Given the description of an element on the screen output the (x, y) to click on. 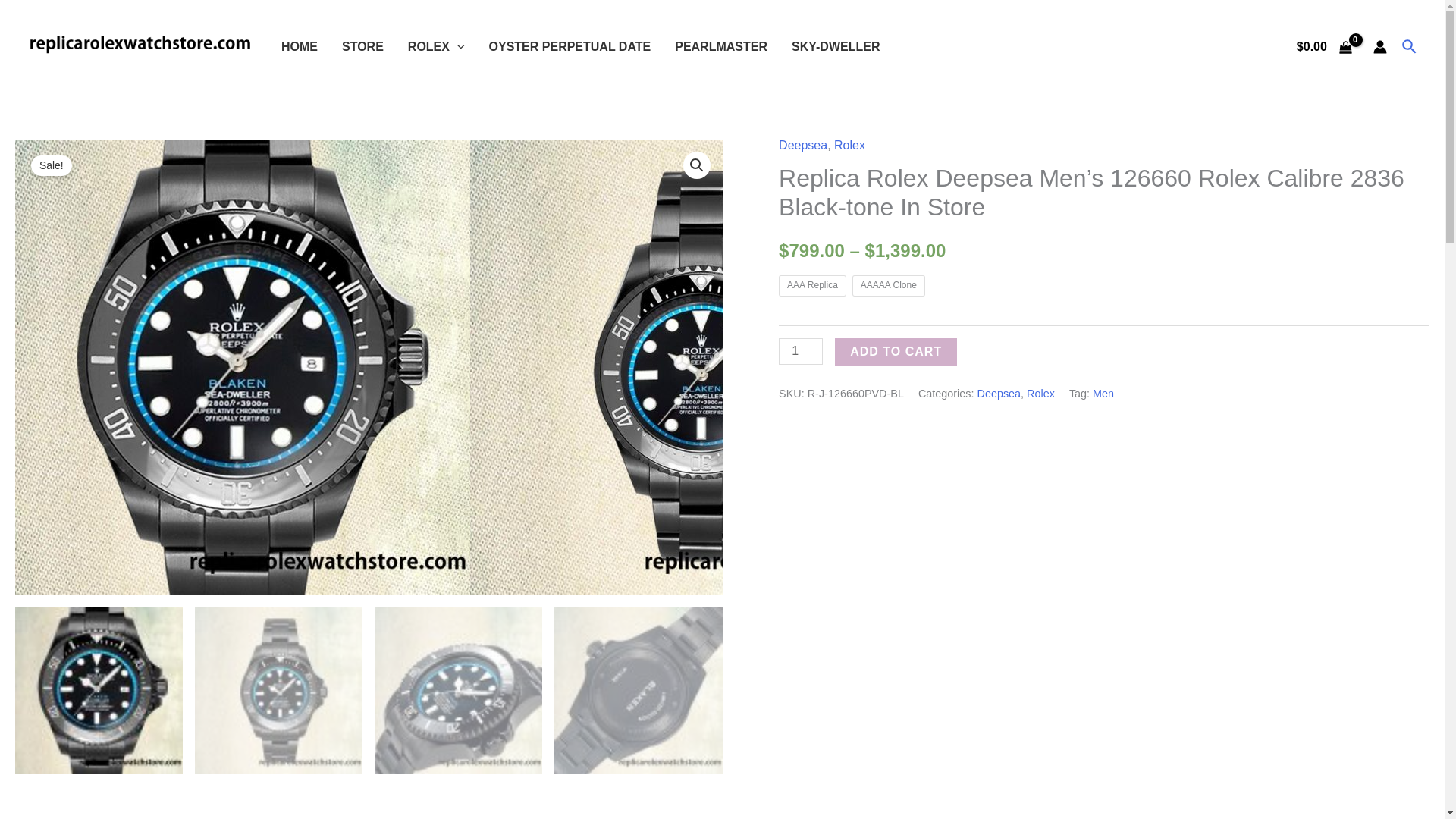
PEARLMASTER (720, 46)
HOME (299, 46)
OYSTER PERPETUAL DATE (570, 46)
ROLEX (436, 46)
Search (1410, 47)
STORE (363, 46)
Deepsea (802, 144)
Rolex (849, 144)
1 (800, 351)
SKY-DWELLER (834, 46)
